Given the description of an element on the screen output the (x, y) to click on. 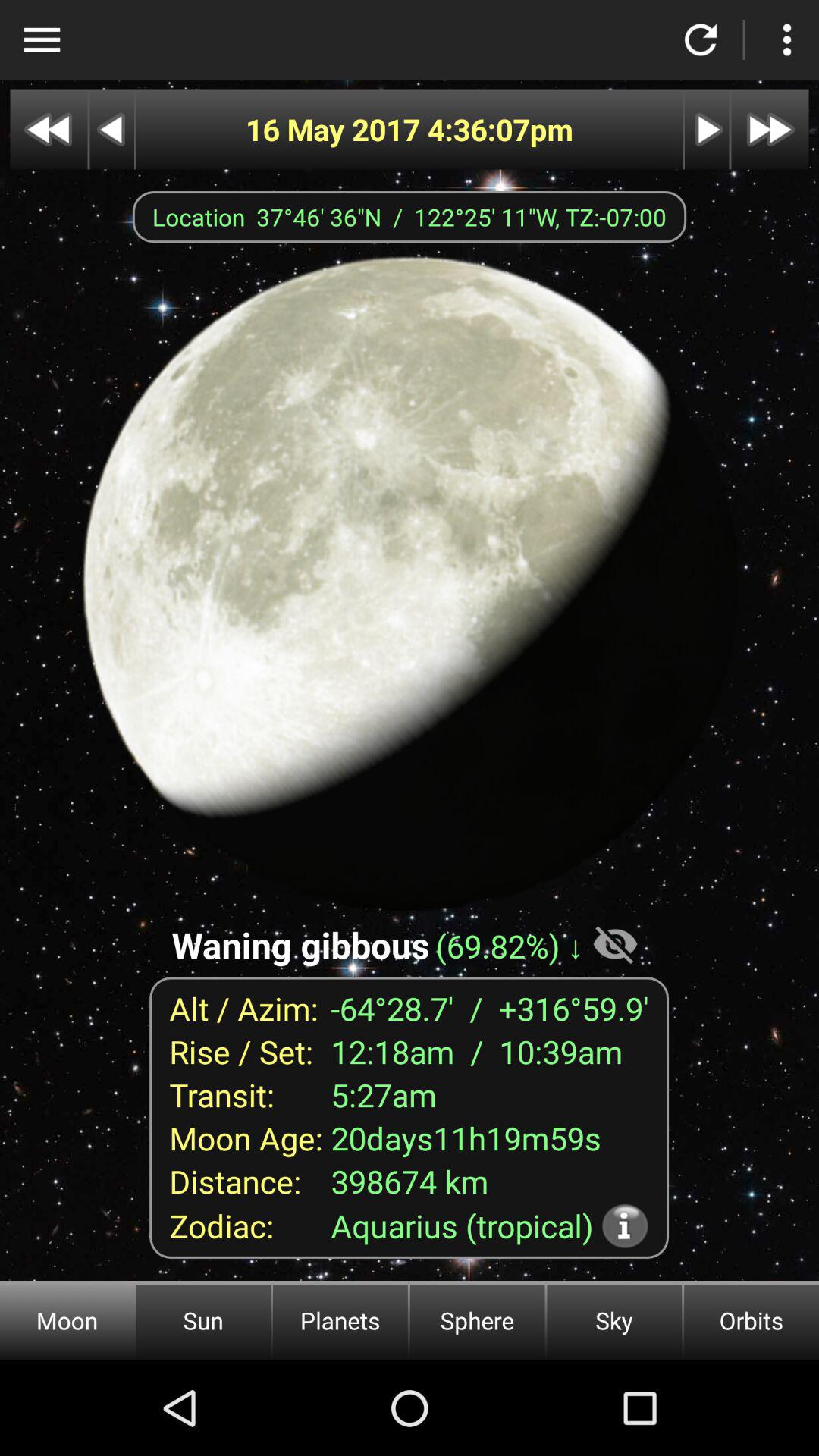
go to previous month (48, 129)
